Given the description of an element on the screen output the (x, y) to click on. 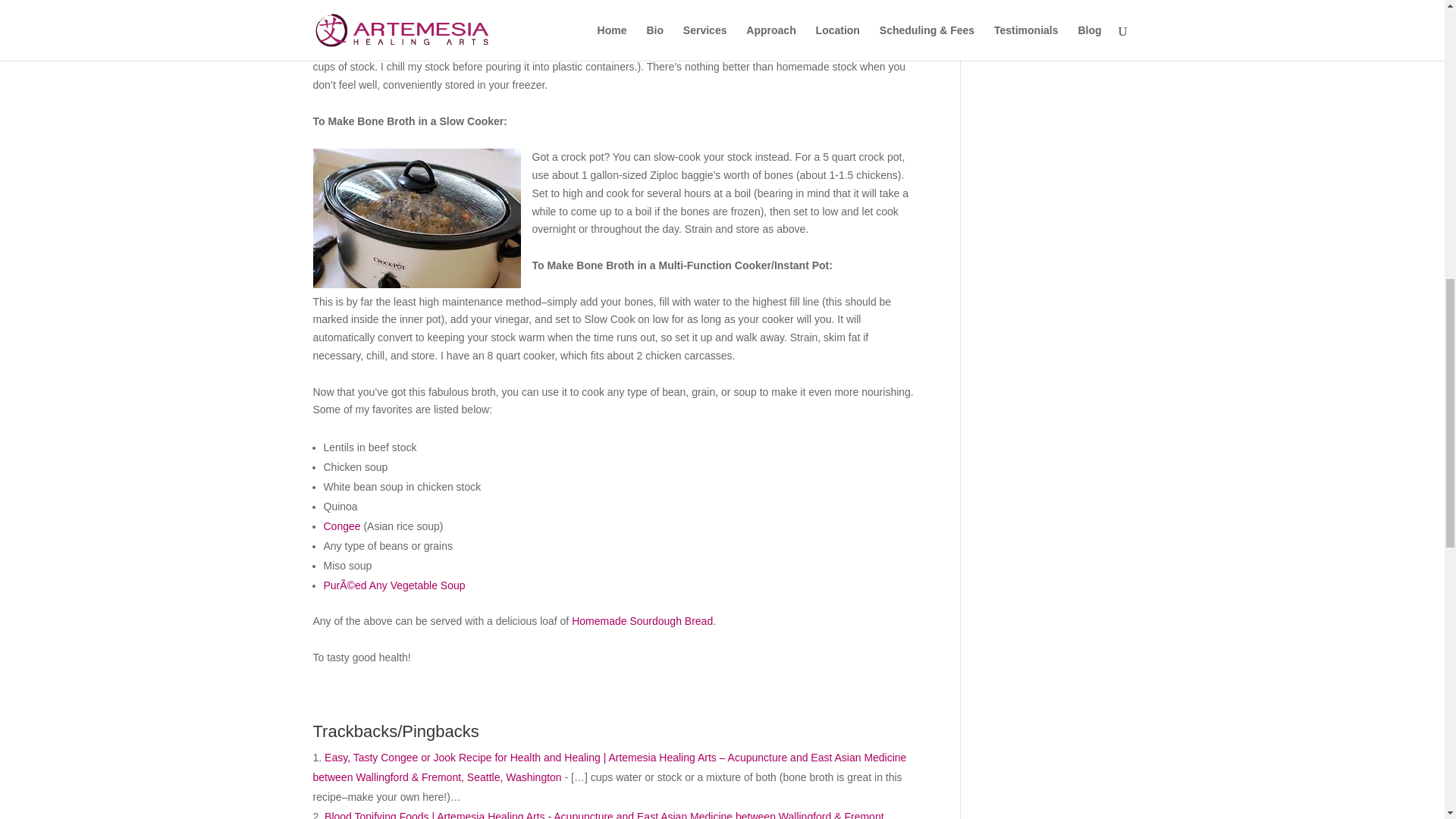
Homemade Sourdough Bread (642, 621)
crock pot (416, 218)
Congee (342, 526)
congee jook recipe for health healing (342, 526)
